Given the description of an element on the screen output the (x, y) to click on. 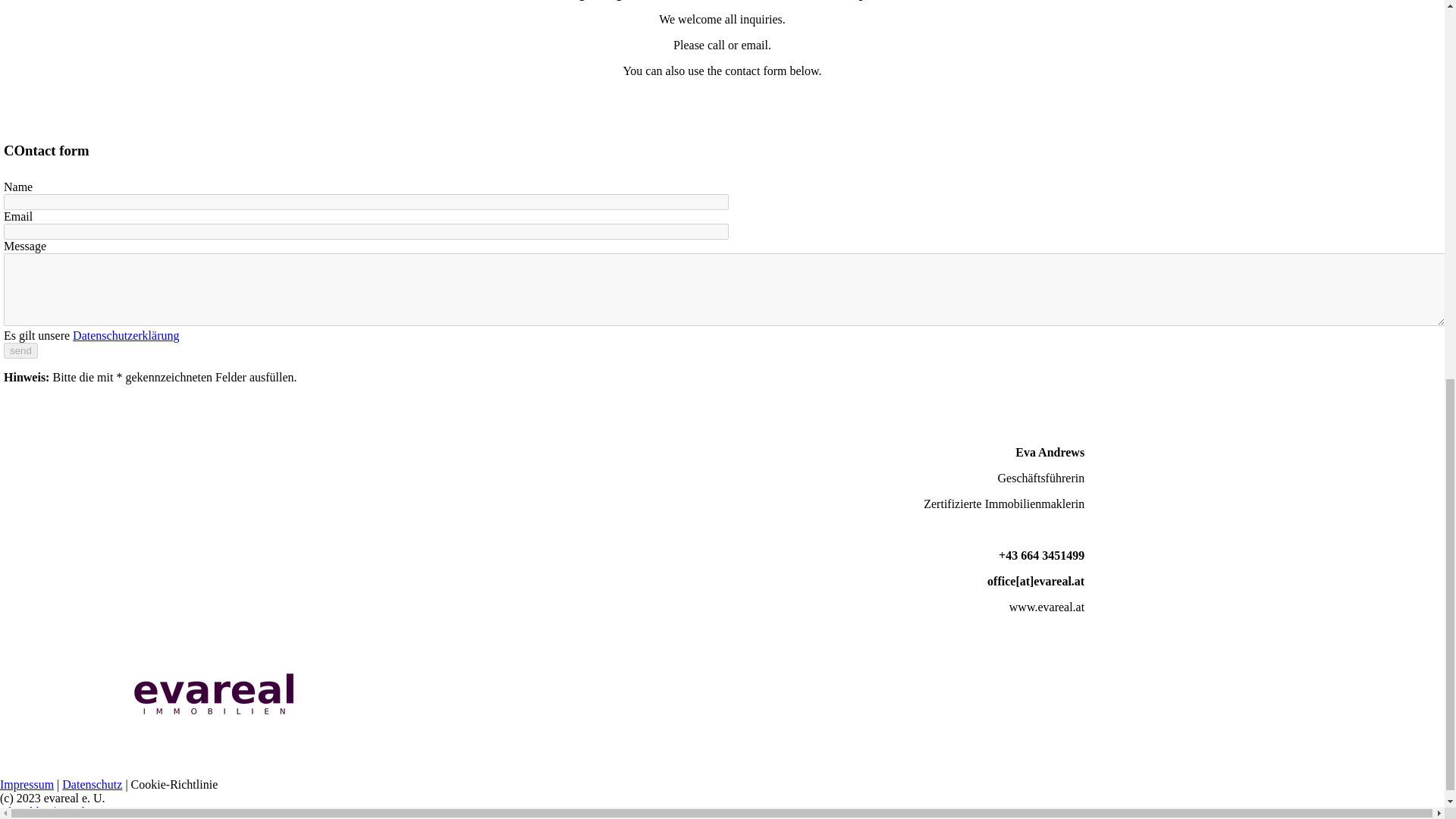
send (20, 350)
send (20, 350)
Cookie-Richtlinie (174, 784)
Datenschutz (92, 784)
Impressum (26, 784)
Abmelden (26, 811)
Bearbeiten (85, 811)
